Given the description of an element on the screen output the (x, y) to click on. 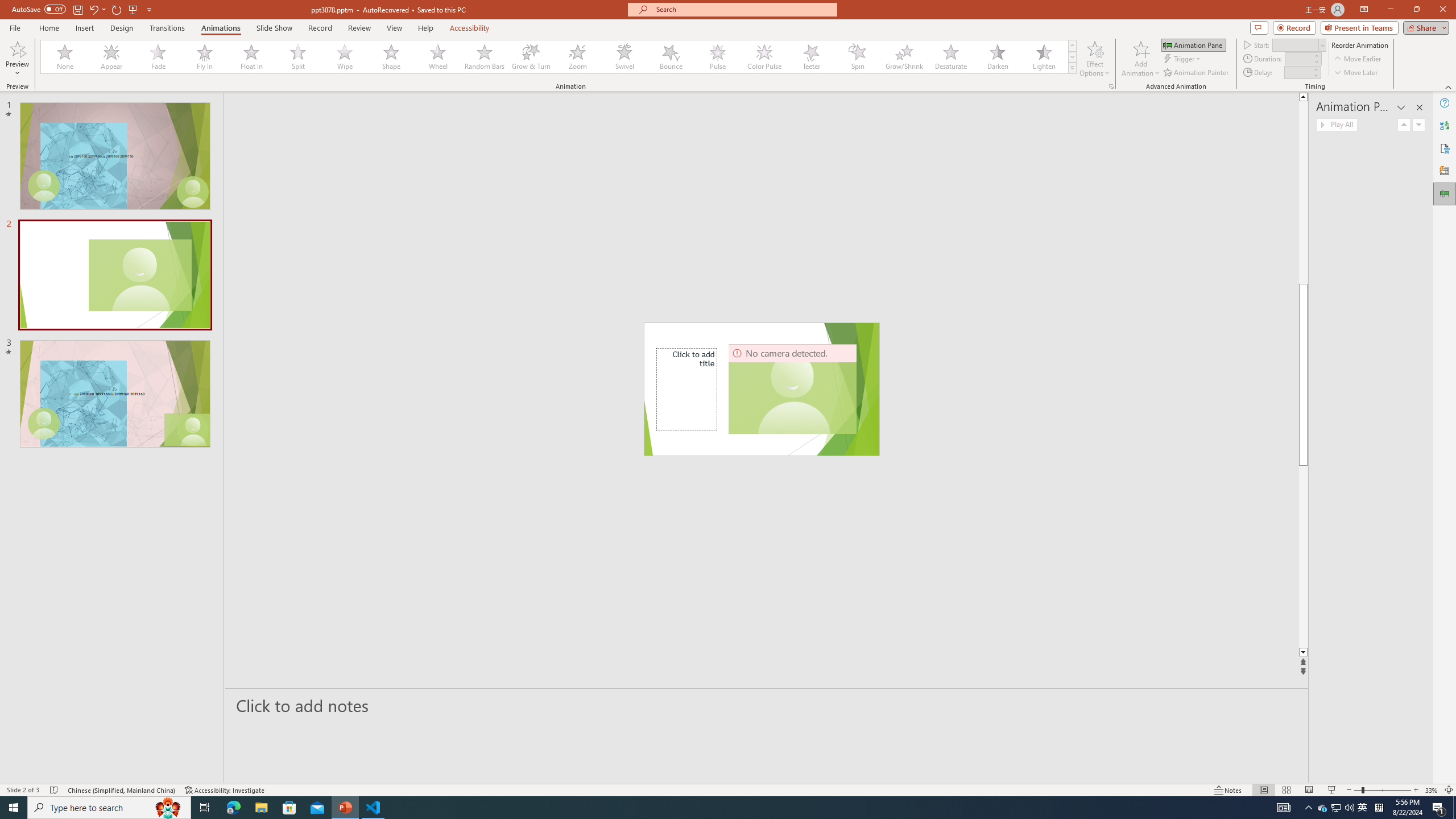
Camera 3, No camera detected. (792, 388)
Play All (1336, 124)
Lighten (1043, 56)
More Options... (1110, 85)
Grow & Turn (531, 56)
